Given the description of an element on the screen output the (x, y) to click on. 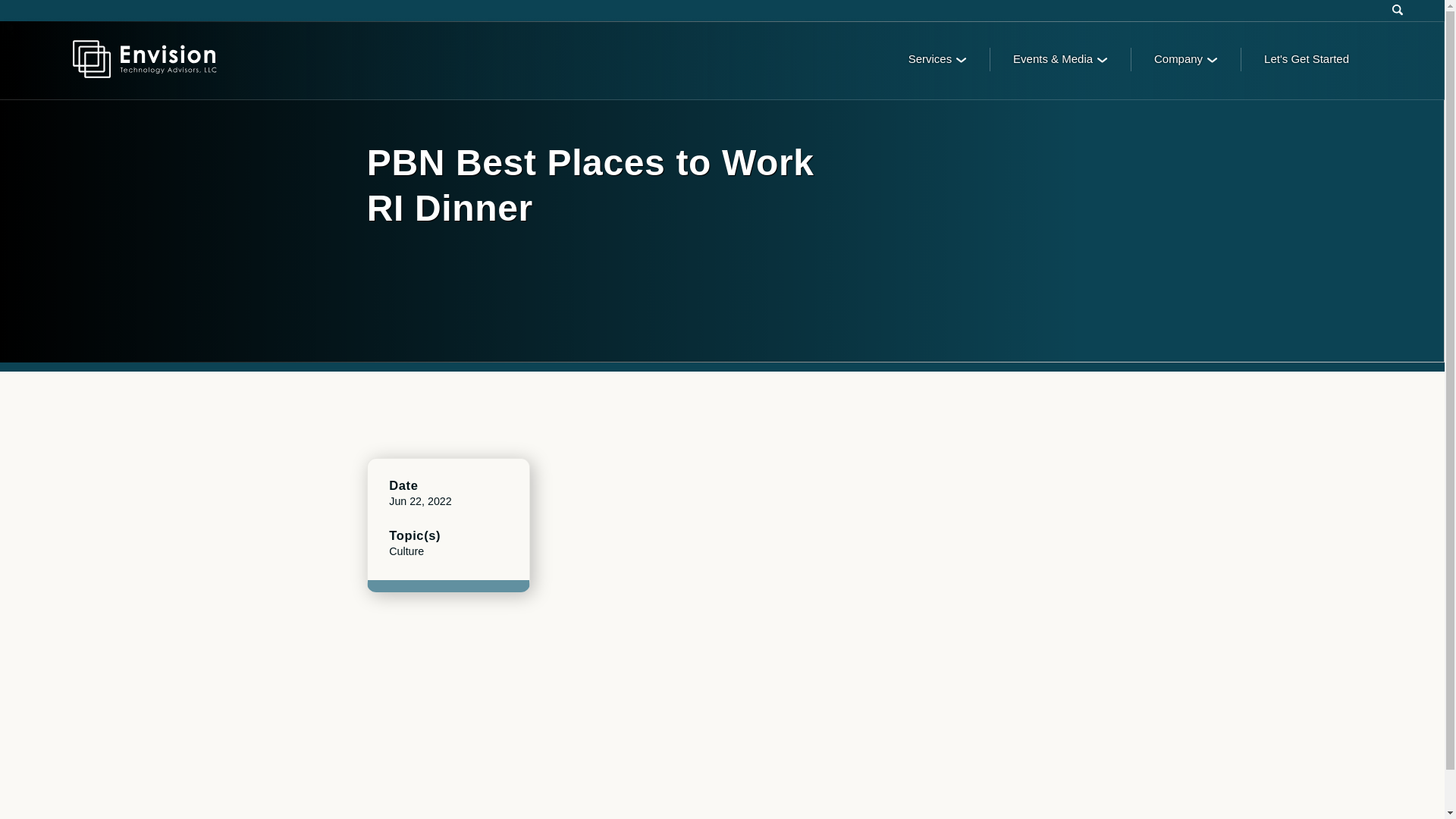
Display Search (1398, 9)
Company (1185, 59)
Services (937, 59)
